Given the description of an element on the screen output the (x, y) to click on. 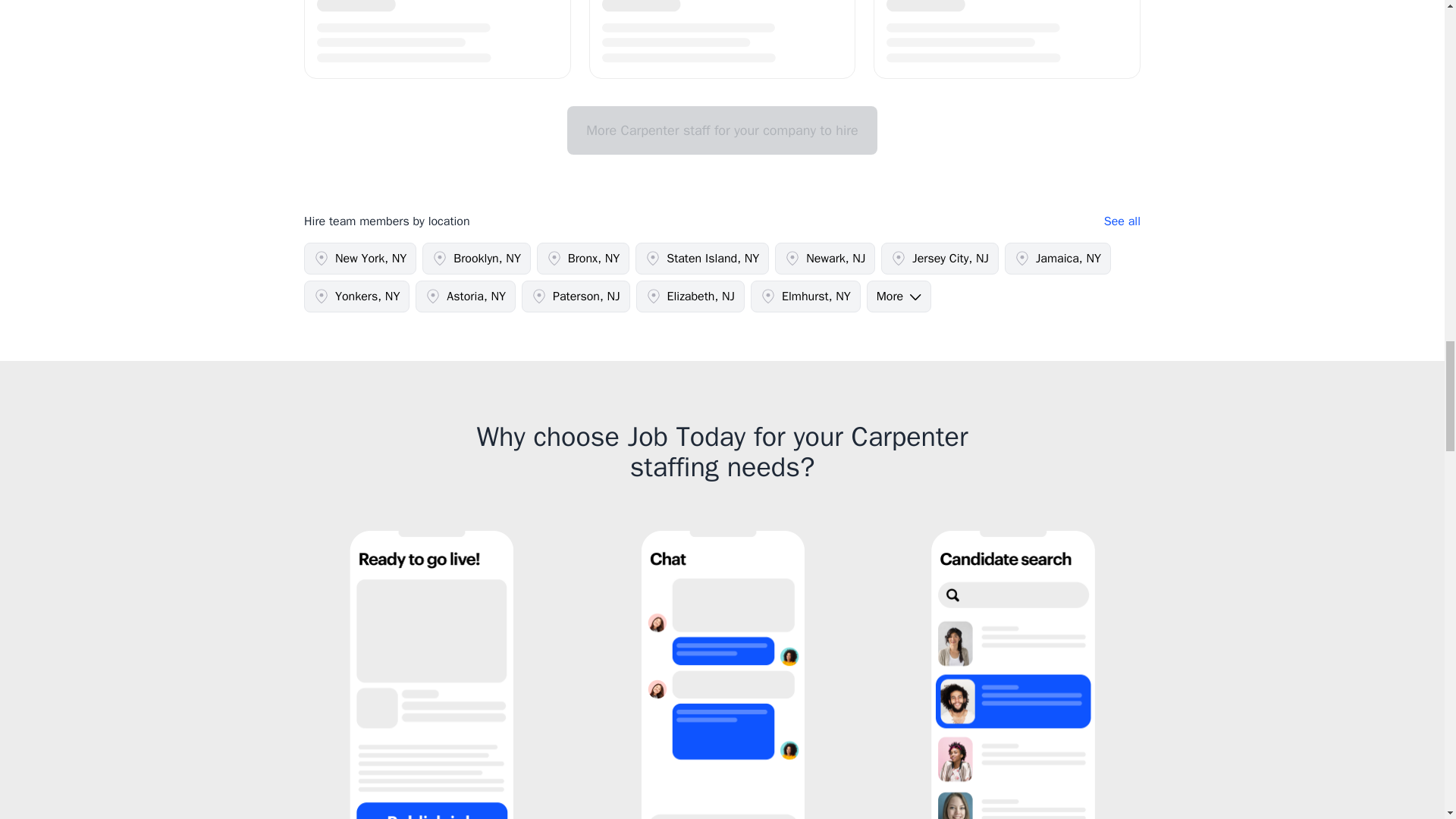
Jersey City, NJ (939, 258)
Jamaica, NY (1057, 258)
Brooklyn, NY (476, 258)
More Carpenter staff for your company to hire (721, 130)
New York, NY (360, 258)
Bronx, NY (582, 258)
Yonkers, NY (356, 296)
Newark, NJ (824, 258)
Staten Island, NY (701, 258)
See all (1121, 221)
Astoria, NY (464, 296)
